Given the description of an element on the screen output the (x, y) to click on. 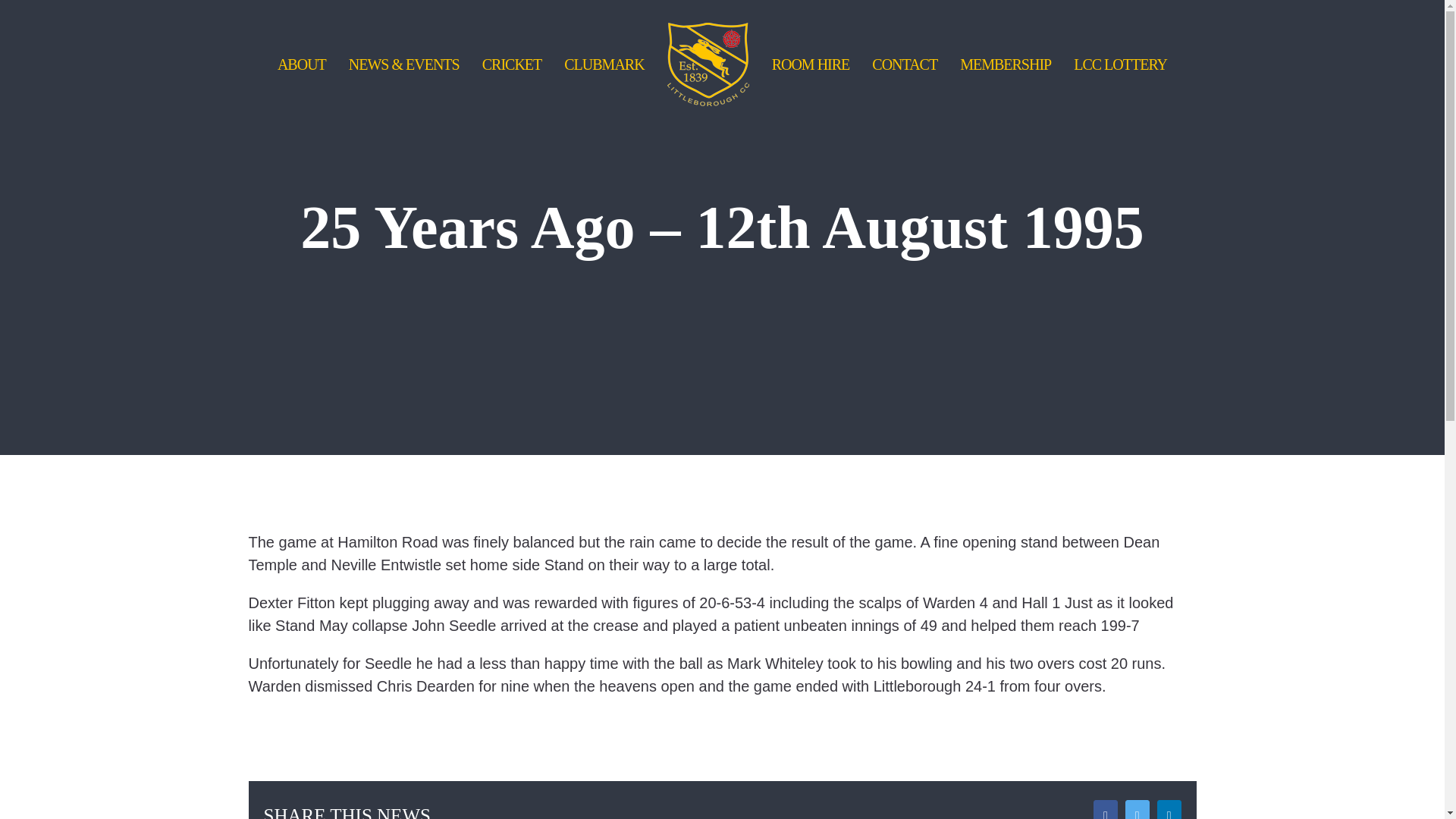
ROOM HIRE (810, 64)
linkedin (1168, 809)
CLUBMARK (603, 64)
CRICKET (511, 64)
facebook (1338, 772)
facebook (1105, 809)
twitter (1137, 809)
twitter (1377, 772)
